Given the description of an element on the screen output the (x, y) to click on. 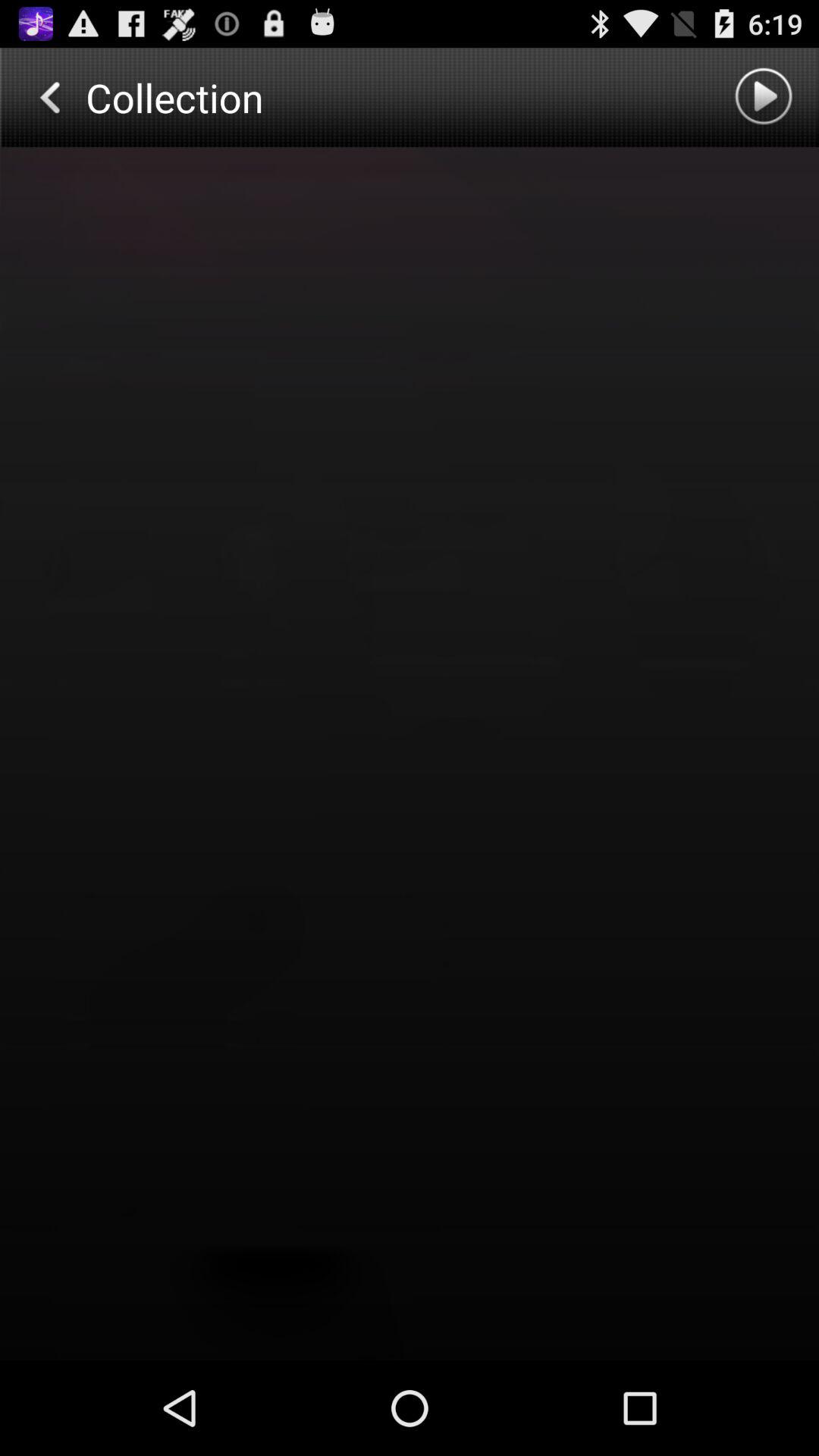
go back (48, 97)
